Given the description of an element on the screen output the (x, y) to click on. 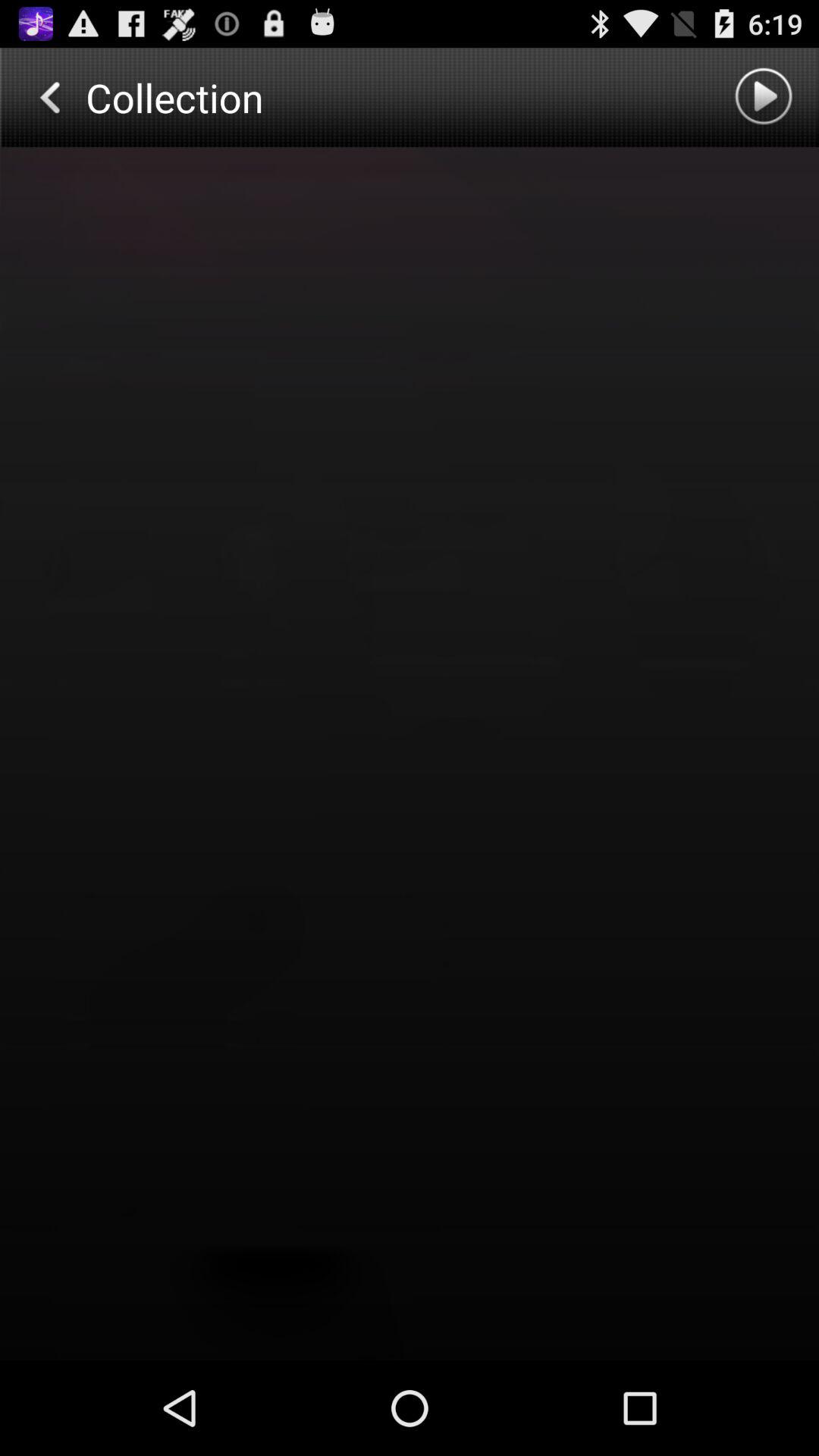
go back (48, 97)
